Given the description of an element on the screen output the (x, y) to click on. 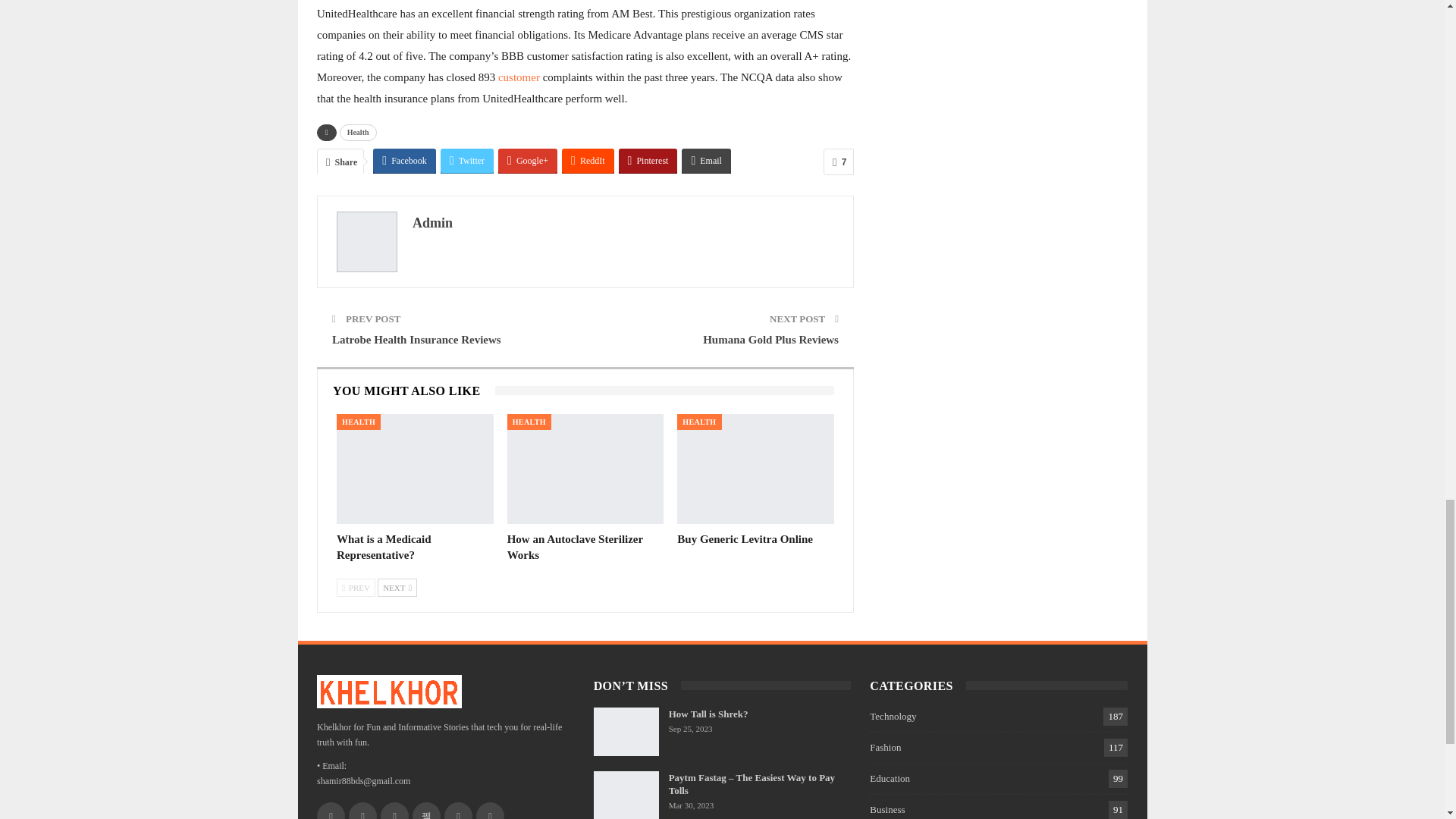
Next (396, 587)
How an Autoclave Sterilizer Works (584, 469)
Buy Generic Levitra Online (744, 539)
Previous (355, 587)
How an Autoclave Sterilizer Works (574, 547)
Buy Generic Levitra Online (755, 469)
What is a Medicaid Representative? (383, 547)
What is a Medicaid Representative? (414, 469)
